Given the description of an element on the screen output the (x, y) to click on. 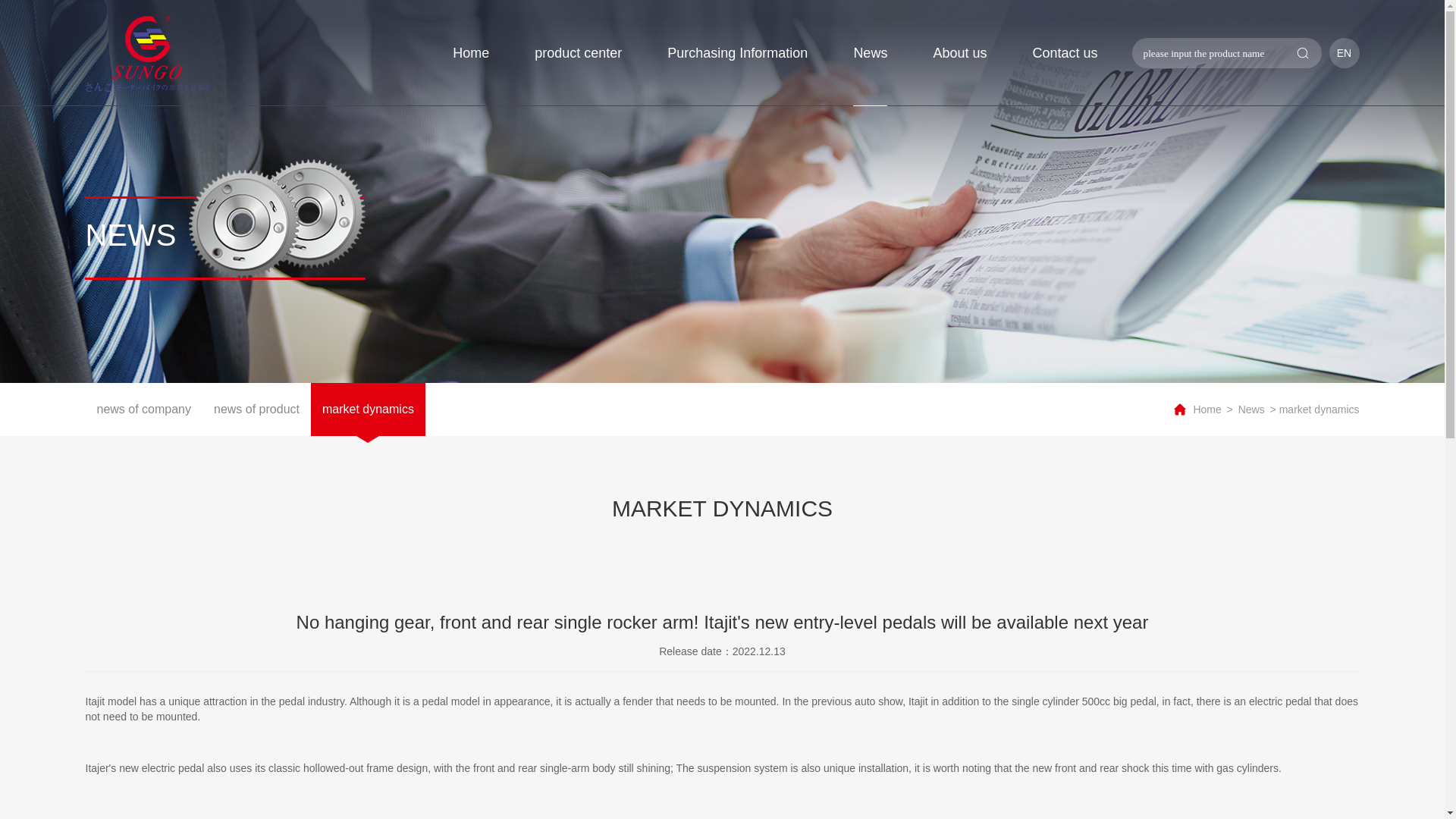
news of product (256, 409)
Purchasing Information (737, 53)
market dynamics (368, 409)
news of company (143, 409)
